Given the description of an element on the screen output the (x, y) to click on. 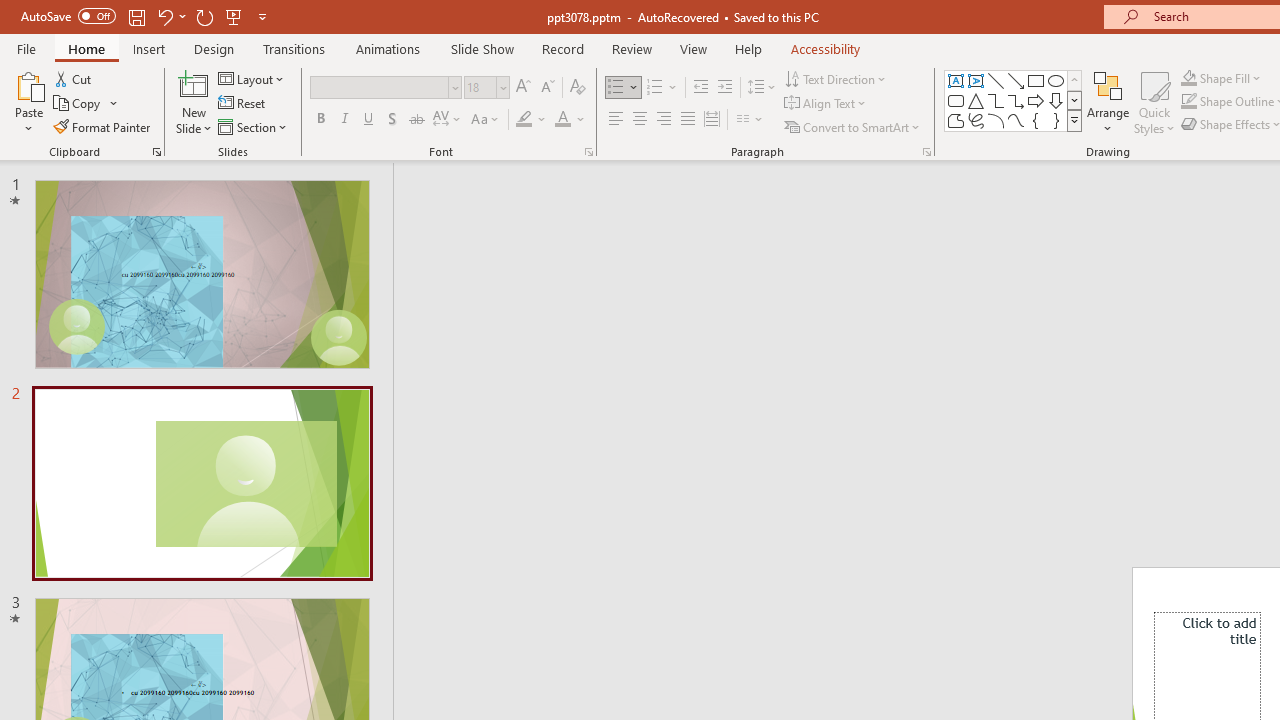
Shadow (392, 119)
Review (631, 48)
Text Direction (836, 78)
Freeform: Shape (955, 120)
Row Down (1074, 100)
Shapes (1074, 120)
Copy (78, 103)
Redo (204, 15)
File Tab (26, 48)
Format Painter (103, 126)
Open (502, 87)
Paste (28, 84)
Slide (201, 483)
Paste (28, 102)
Freeform: Scribble (975, 120)
